Given the description of an element on the screen output the (x, y) to click on. 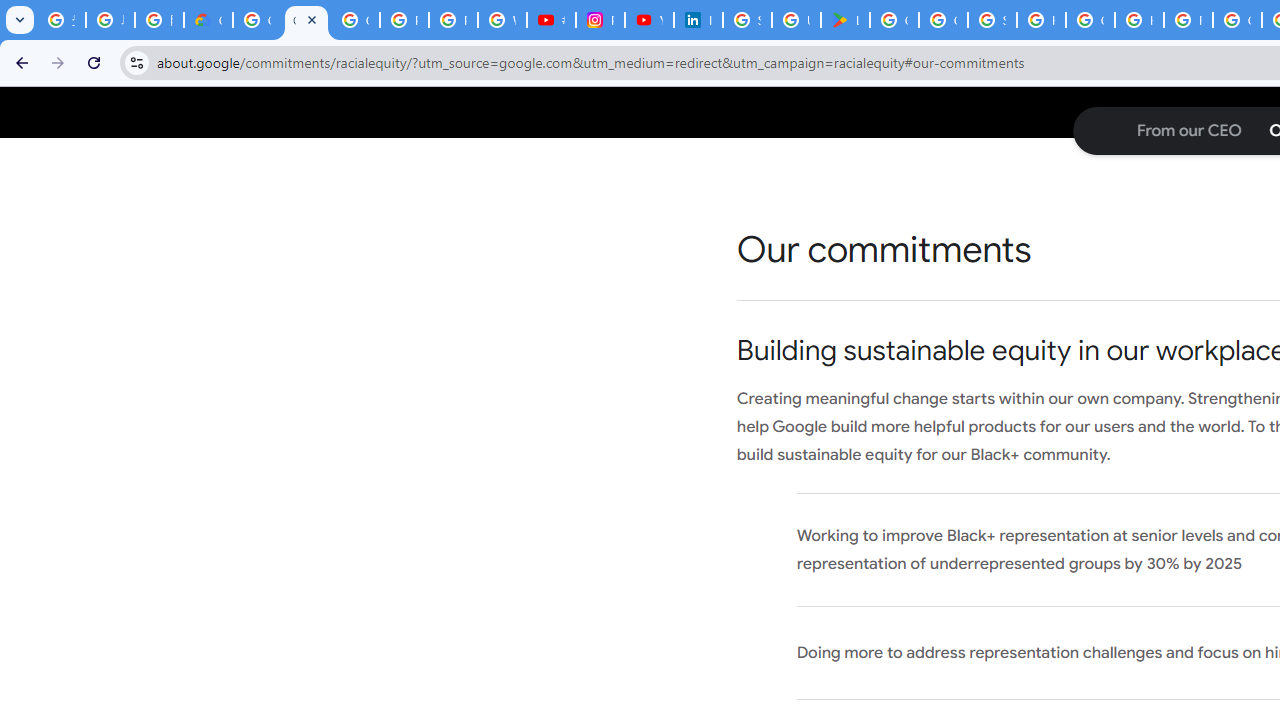
Sign in - Google Accounts (747, 20)
Google Workspace - Specific Terms (943, 20)
#nbabasketballhighlights - YouTube (551, 20)
